Given the description of an element on the screen output the (x, y) to click on. 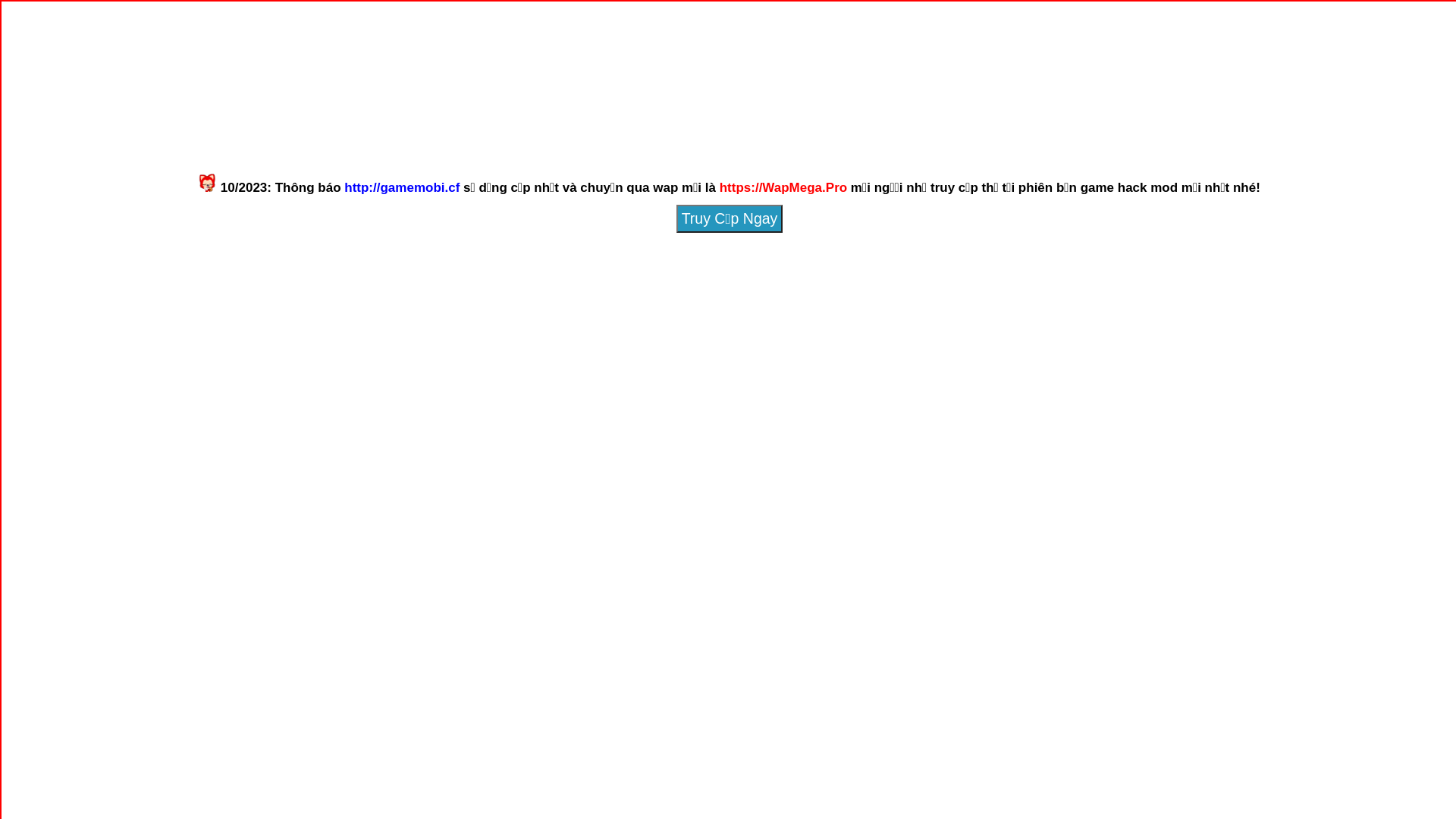
NINJA Element type: text (931, 109)
ARMY3 Element type: text (659, 109)
admin Element type: hover (464, 214)
DMCA.com Protection Status Element type: hover (767, 326)
[ads] Element type: text (727, 138)
https://WapMega.Pro Element type: text (783, 187)
Robots.txt Element type: text (823, 342)
. Element type: text (460, 353)
AVATAR Element type: text (523, 109)
logo Wap Element type: hover (727, 69)
[UC Browser] Element type: text (669, 125)
NRO Element type: text (795, 109)
powered Element type: hover (688, 321)
ror.xml Element type: text (759, 342)
xtgem Element type: hover (688, 326)
SiteMap.xml.gz Element type: text (722, 342)
GameMobi.CF Element type: text (766, 285)
[Opera Mini] Element type: text (735, 125)
SiteMap.xml Element type: text (677, 342)
SiteMap.html Element type: text (635, 342)
. Element type: text (595, 353)
. Element type: text (528, 353)
urllist.txt Element type: text (791, 342)
